Given the description of an element on the screen output the (x, y) to click on. 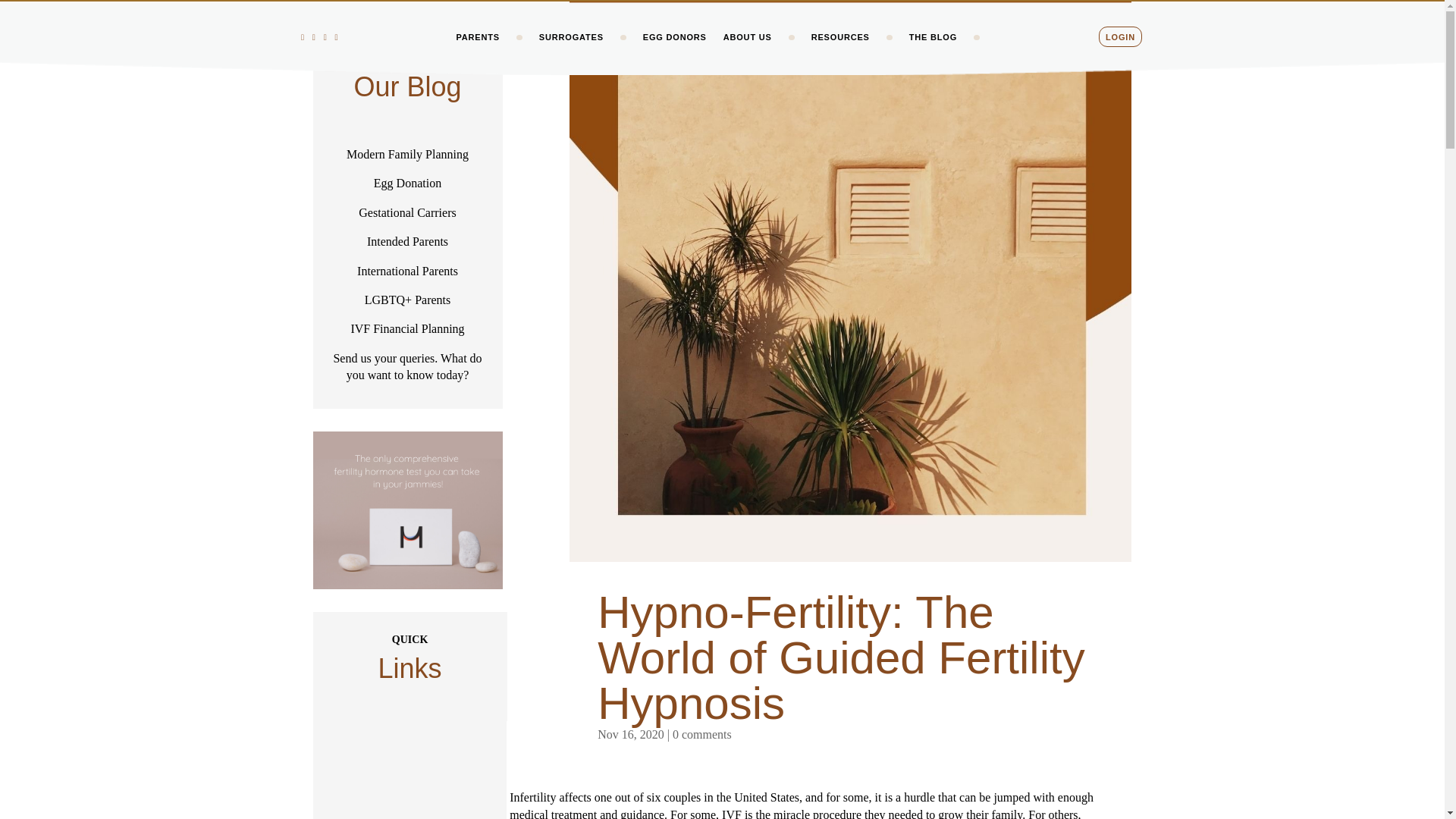
LOGIN (1120, 47)
ABOUT US (747, 47)
0 comments (702, 734)
THE BLOG (932, 47)
SURROGATES (571, 47)
EGG DONORS (674, 47)
RESOURCES (839, 47)
PARENTS (477, 47)
